Given the description of an element on the screen output the (x, y) to click on. 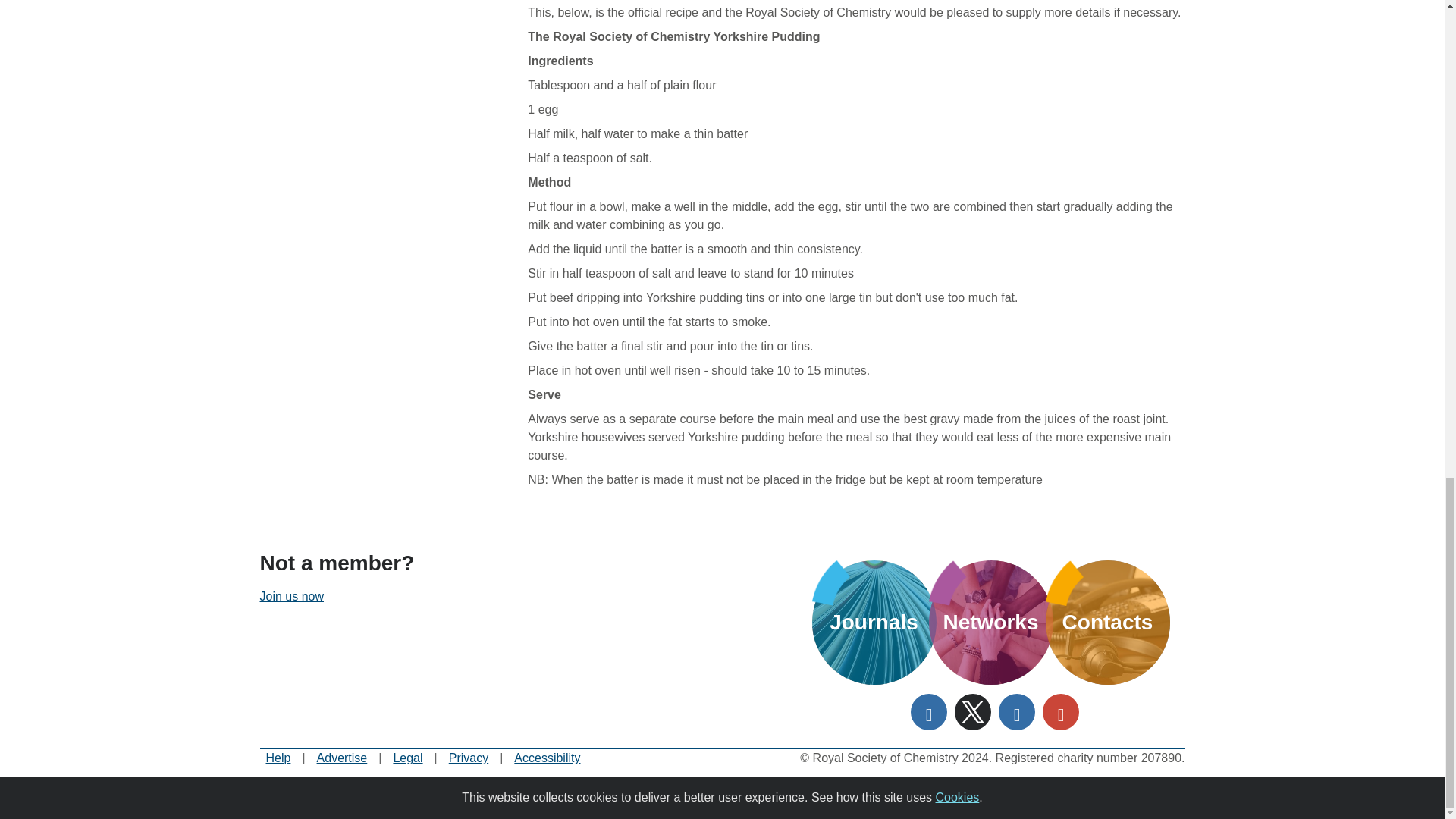
Twitter (971, 711)
Contacts (1107, 622)
Networks (990, 622)
Networks (990, 622)
Linked In (1015, 711)
Journals (873, 622)
Facebook (928, 711)
Join us now (291, 595)
Accessibility statement (546, 758)
Frequently asked questions (276, 758)
Contacts (1107, 622)
